Given the description of an element on the screen output the (x, y) to click on. 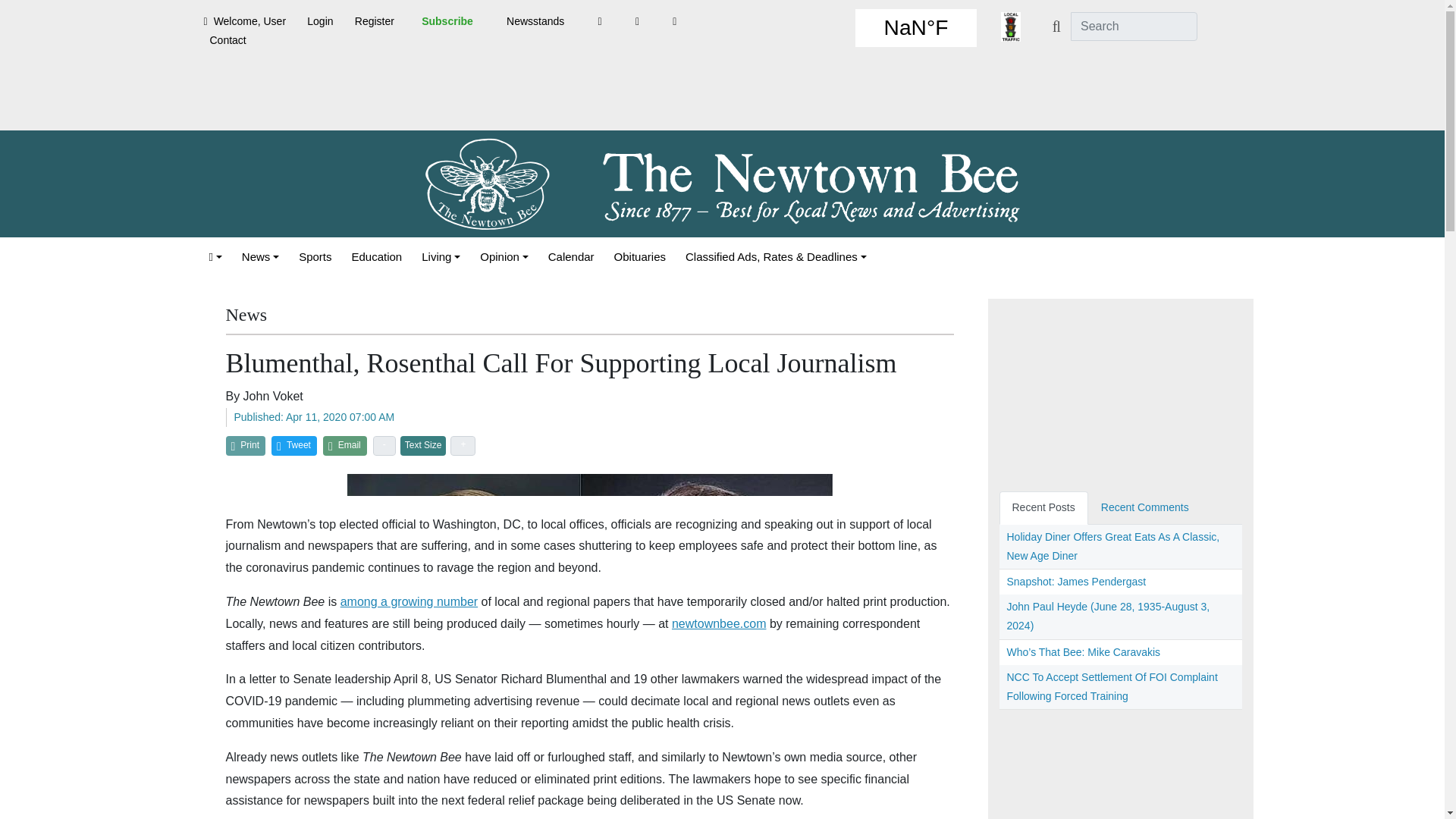
Login (320, 21)
Living (439, 256)
3rd party ad content (721, 96)
Contact (227, 40)
News (260, 256)
Newsstands (535, 21)
- (384, 445)
Sports (314, 256)
Newtown, CT, USA (916, 27)
News (260, 256)
